Given the description of an element on the screen output the (x, y) to click on. 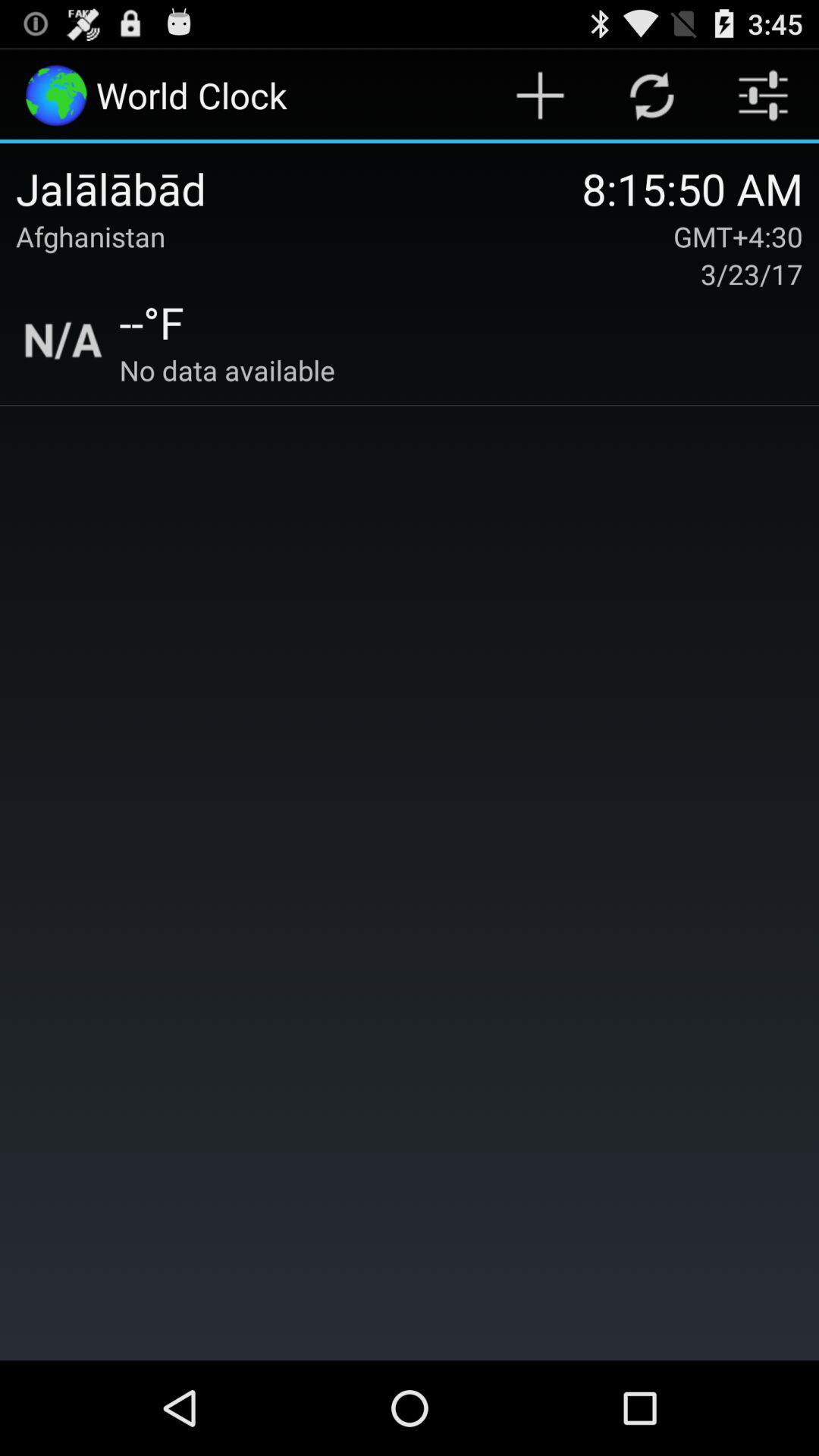
open icon above 3/23/17 item (738, 236)
